Given the description of an element on the screen output the (x, y) to click on. 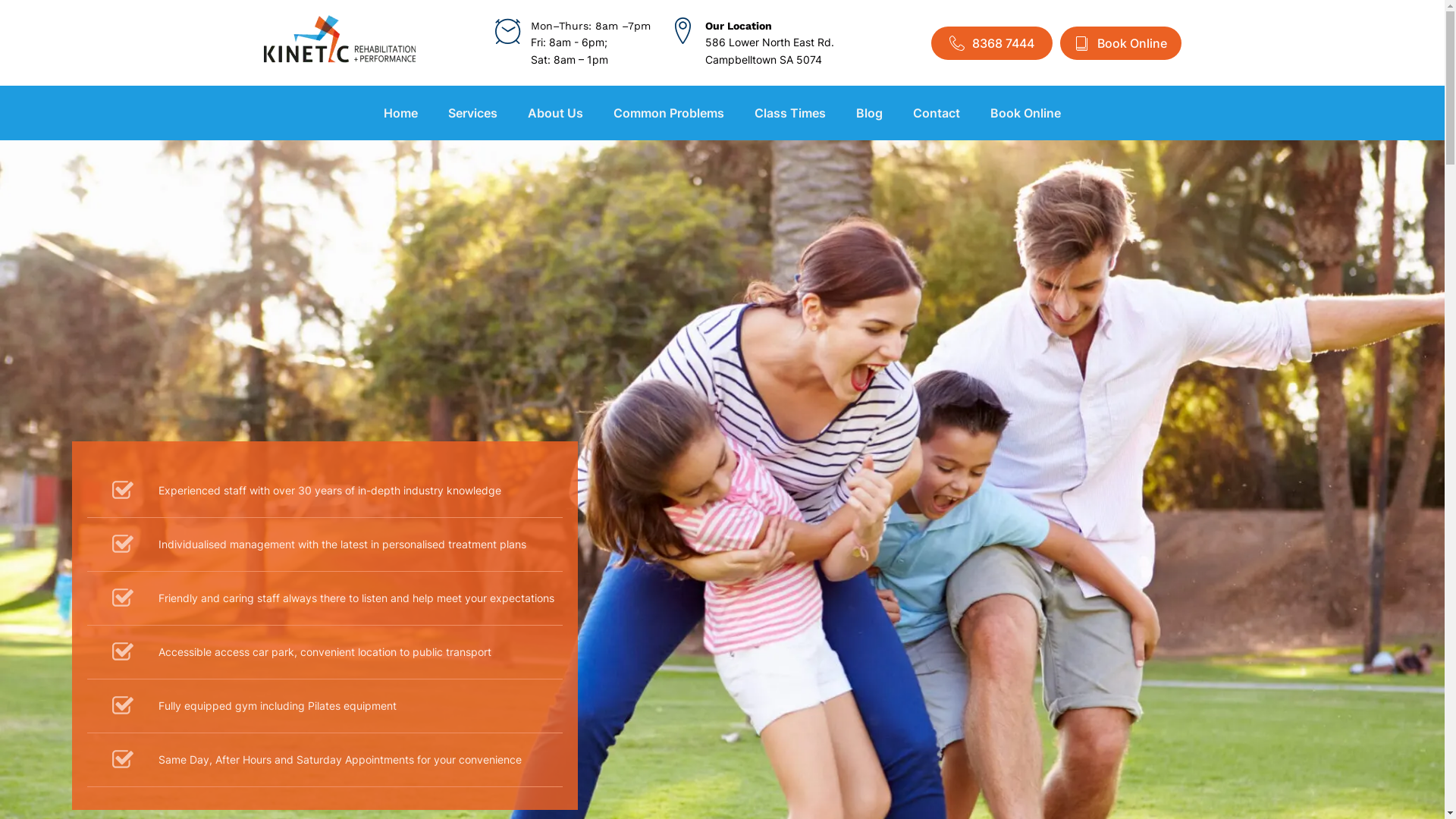
Class Times Element type: text (789, 112)
Home Element type: text (400, 112)
About Us Element type: text (555, 112)
Blog Element type: text (868, 112)
8368 7444 Element type: text (991, 42)
Contact Element type: text (936, 112)
Common Problems Element type: text (668, 112)
Services Element type: text (472, 112)
Book Online Element type: text (1025, 112)
Book Online Element type: text (1120, 42)
